Given the description of an element on the screen output the (x, y) to click on. 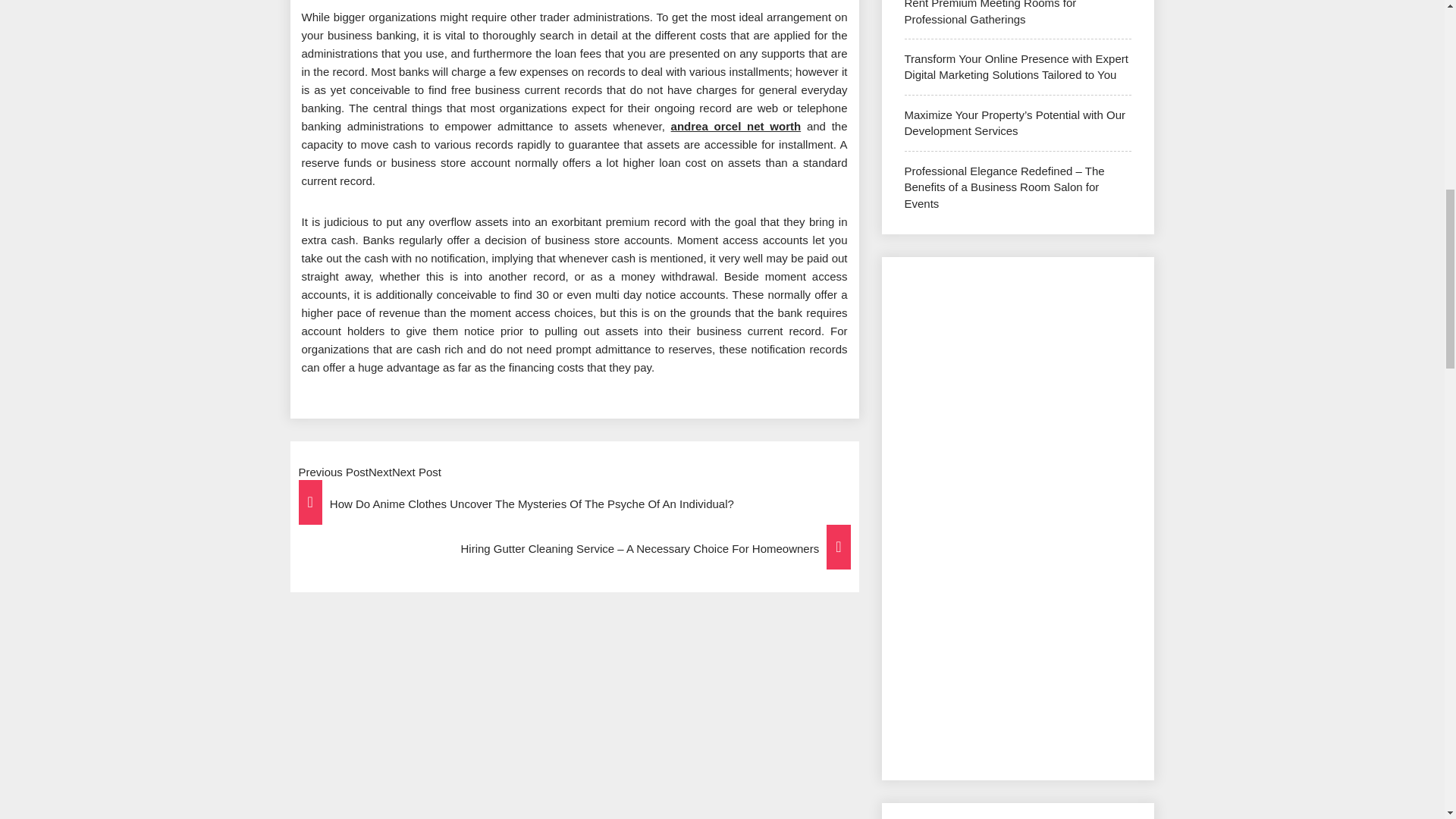
andrea orcel net worth (736, 125)
Rent Premium Meeting Rooms for Professional Gatherings (989, 12)
